Given the description of an element on the screen output the (x, y) to click on. 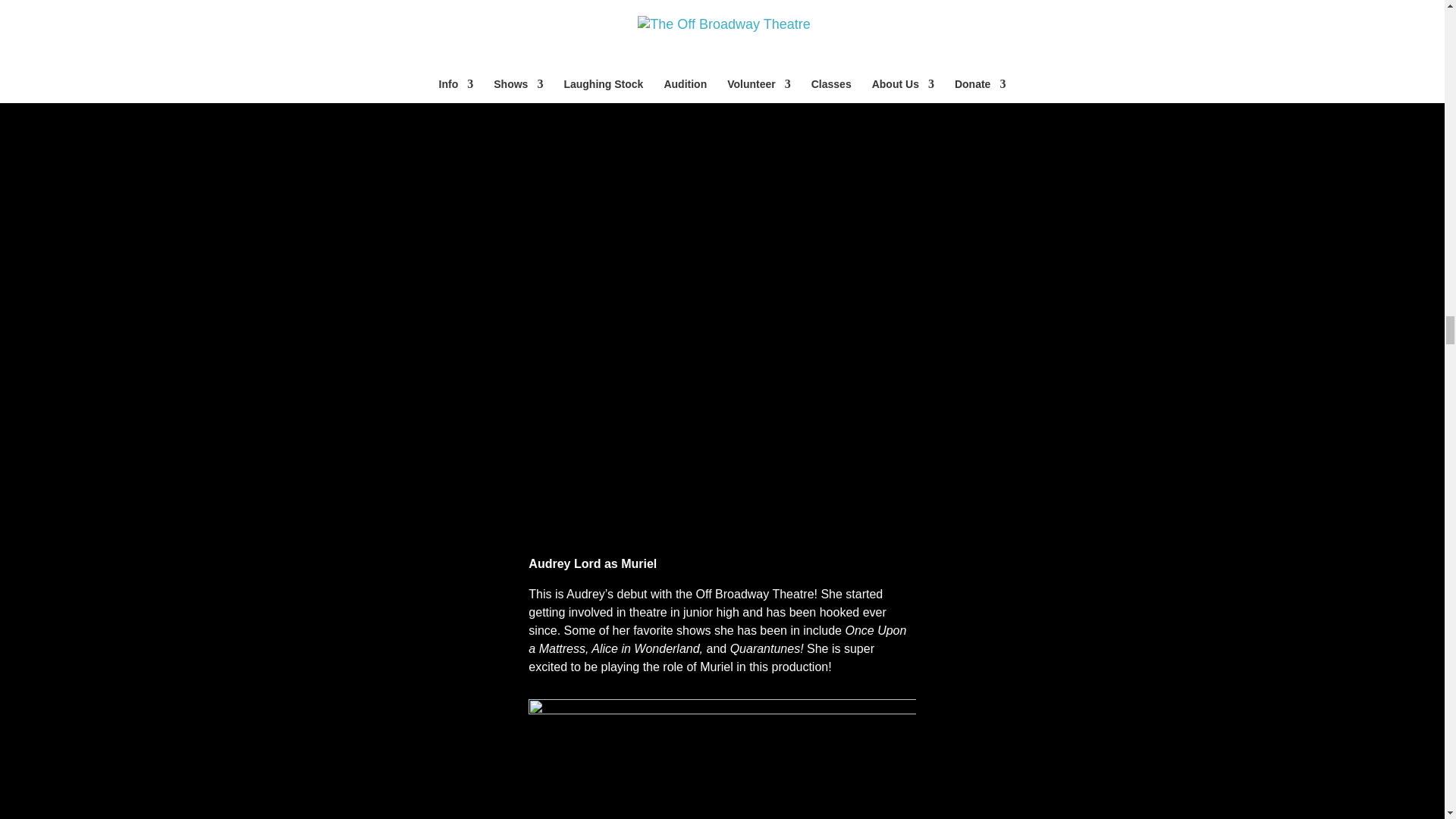
Emily Mouritsen-web (721, 759)
